Given the description of an element on the screen output the (x, y) to click on. 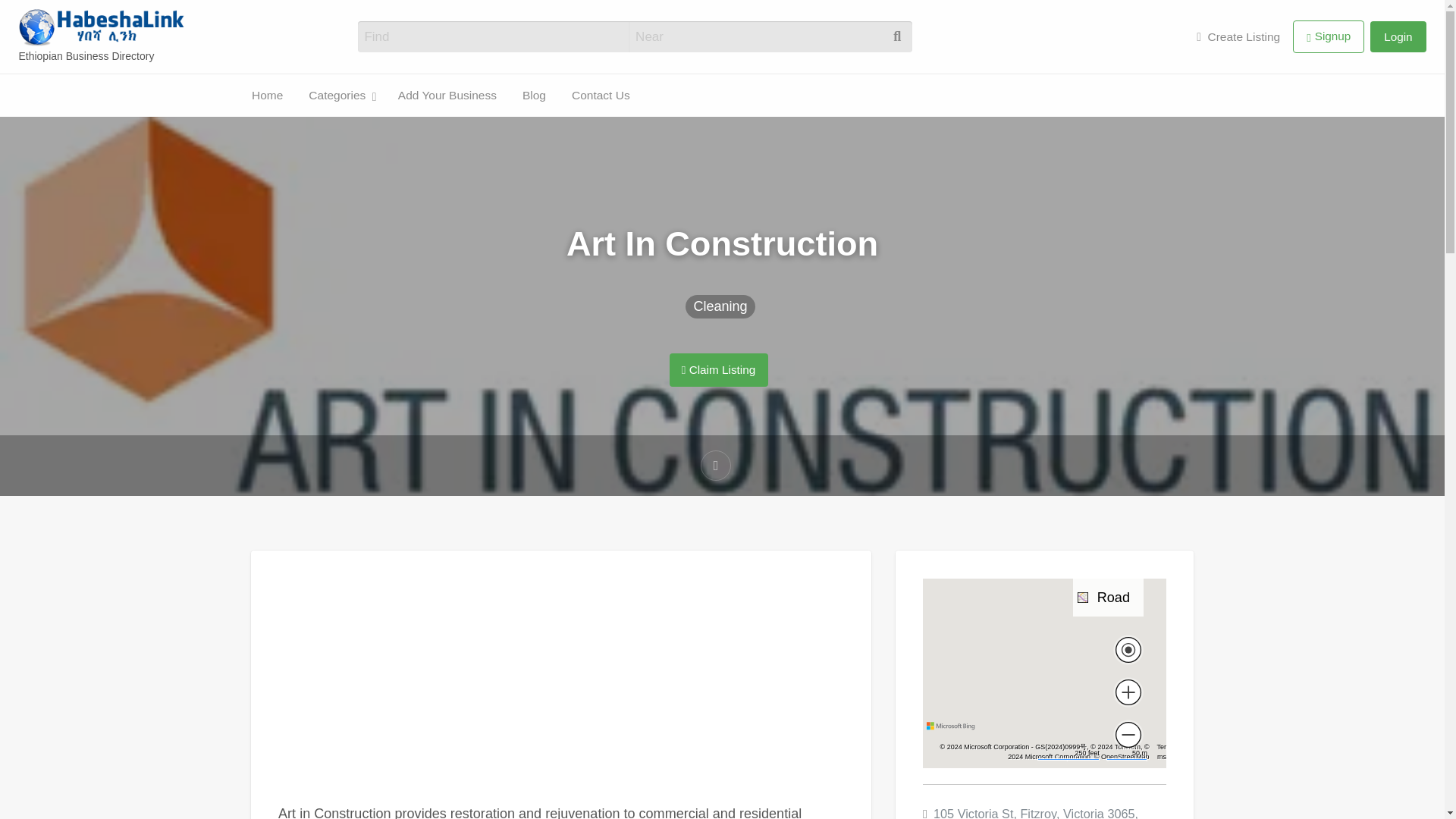
Advertisement (561, 689)
Search (30, 16)
Current Map Type: Road - View aerial, birds eye, and more... (1107, 596)
